Given the description of an element on the screen output the (x, y) to click on. 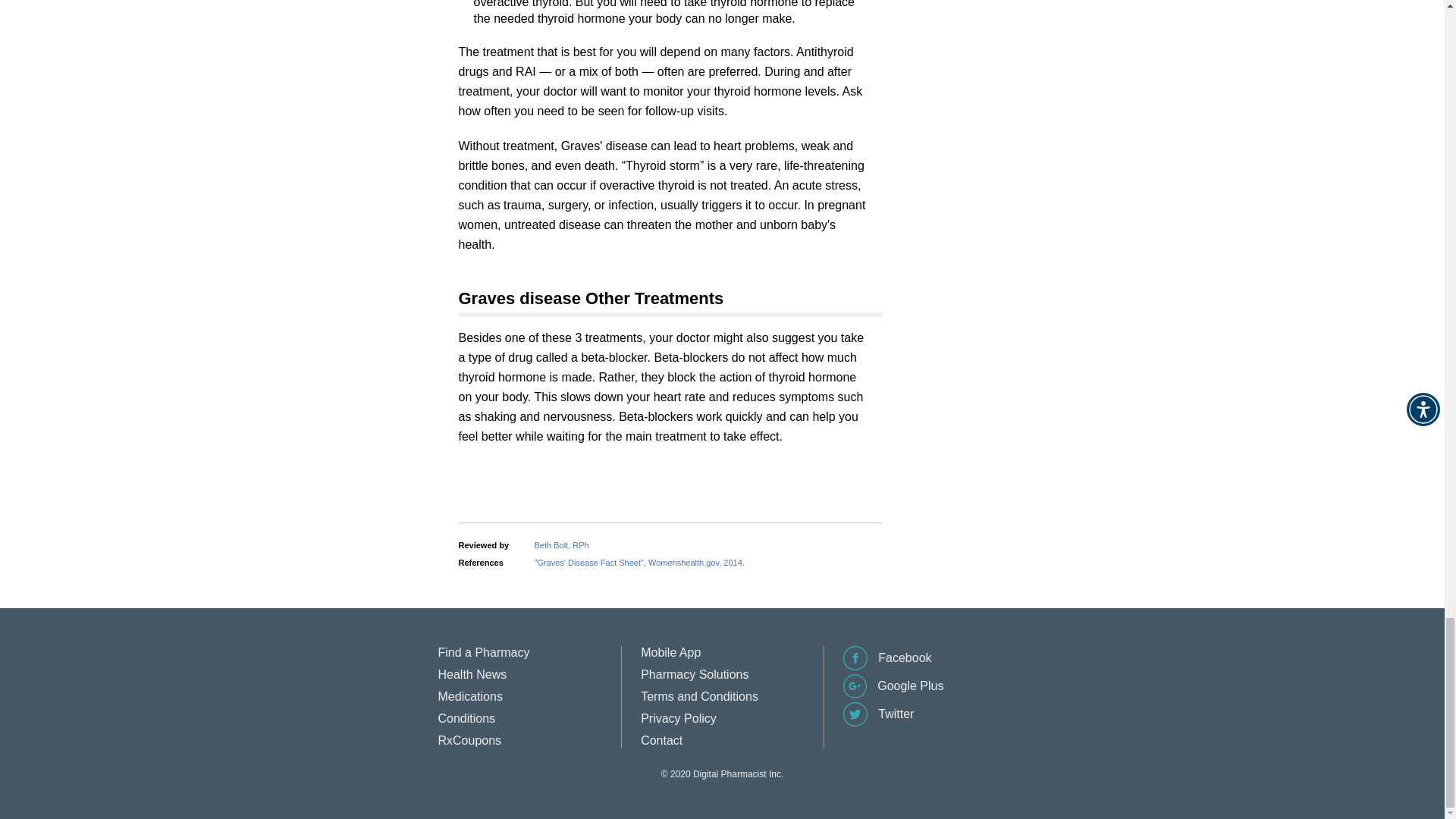
Beth Bolt, RPh (561, 544)
